Given the description of an element on the screen output the (x, y) to click on. 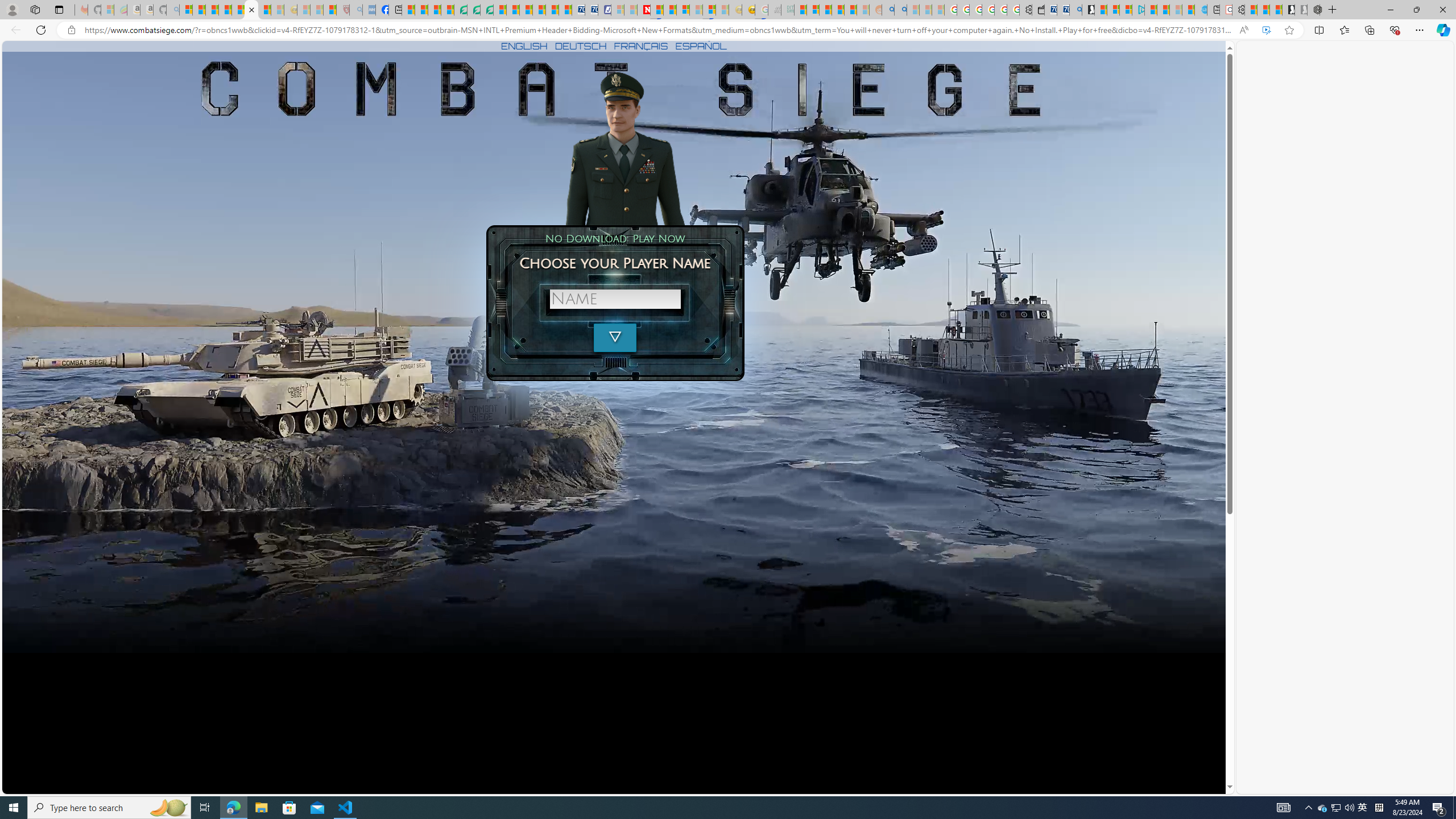
14 Common Myths Debunked By Scientific Facts (669, 9)
